Given the description of an element on the screen output the (x, y) to click on. 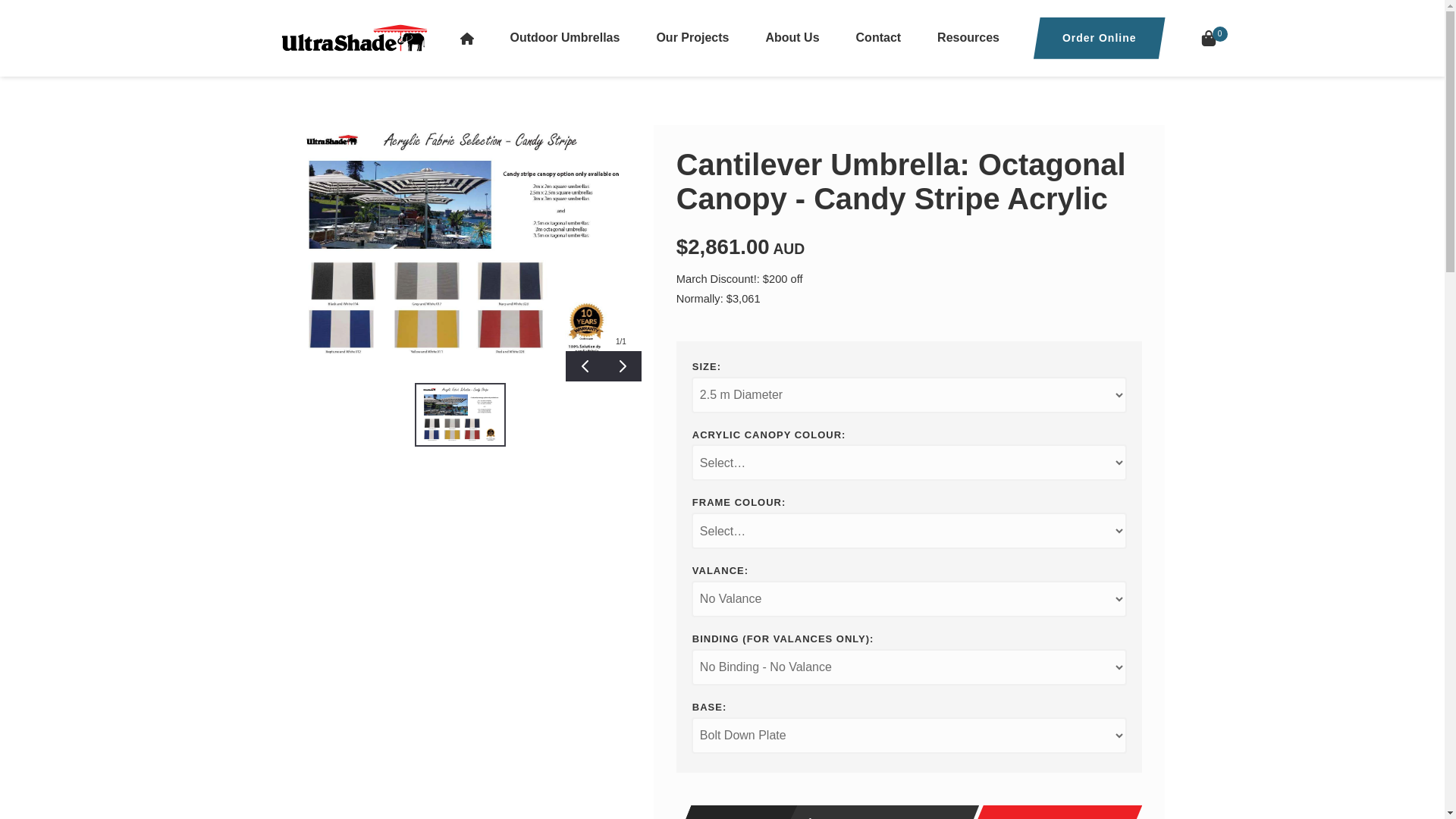
1 (828, 812)
ORDER (1054, 812)
Our Projects (691, 37)
Order Online (1099, 37)
Outdoor Umbrellas (564, 37)
About Us (791, 37)
Contact (879, 37)
0 (1208, 37)
Resources (967, 37)
